Given the description of an element on the screen output the (x, y) to click on. 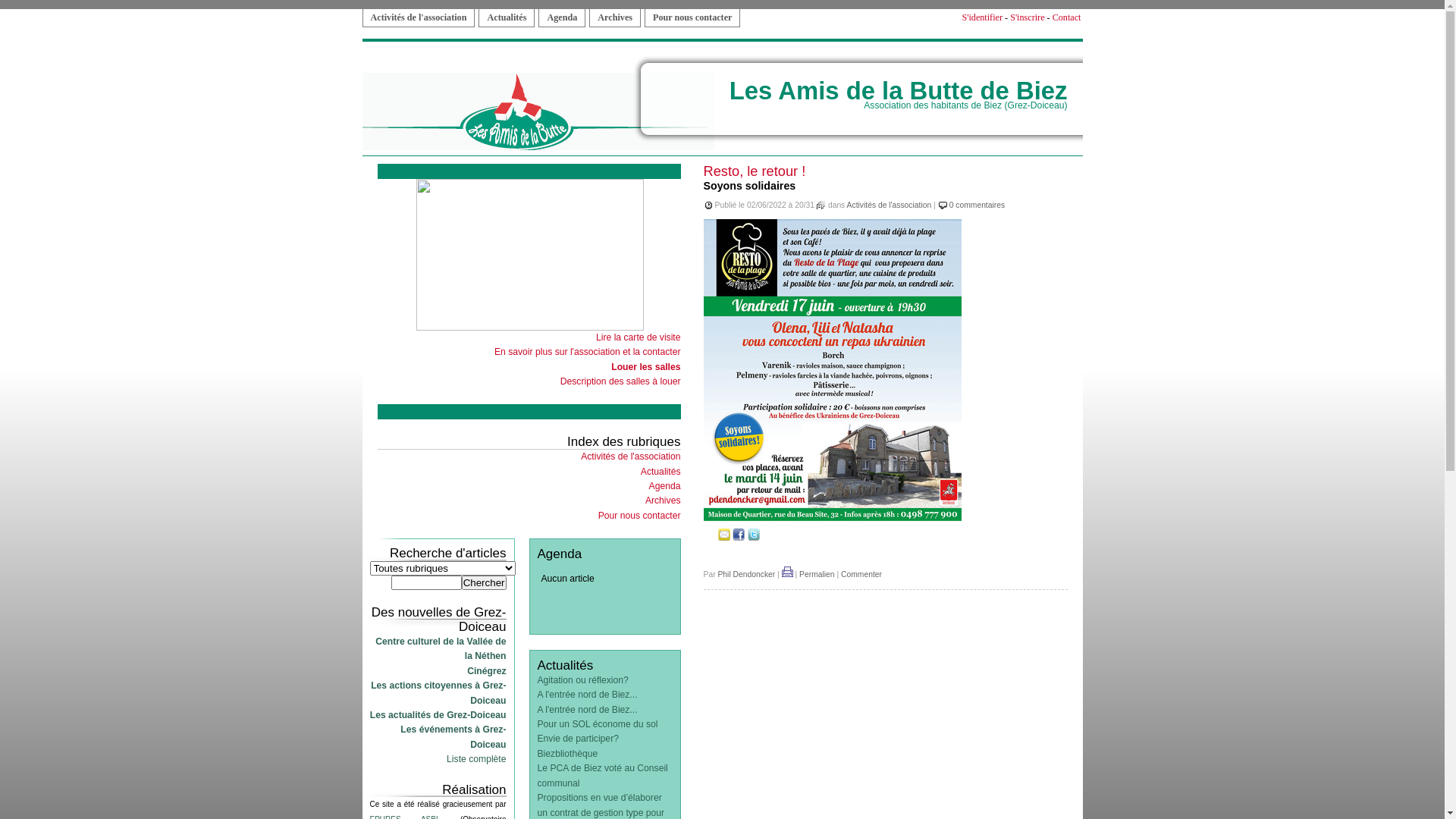
Phil Dendoncker Element type: text (746, 574)
Agenda Element type: text (664, 485)
Pour nous contacter Element type: text (639, 515)
Envie de participer? Element type: text (577, 738)
Pour nous contacter Element type: text (692, 18)
Commenter Element type: text (860, 574)
Ajouter aux favoris Element type: hover (709, 537)
0 commentaires Element type: text (976, 204)
Facebook Element type: hover (738, 537)
Permalien Element type: text (816, 574)
Archives Element type: text (614, 18)
Zoom Element type: hover (832, 518)
S'identifier Element type: text (981, 17)
Archives Element type: text (662, 500)
Resto, le retour ! Element type: text (754, 170)
Chercher Element type: text (483, 582)
Les Amis de la Butte de Biez Element type: text (898, 90)
Version imprimable Element type: hover (787, 574)
Contact Element type: text (1066, 17)
Louer les salles Element type: text (645, 366)
En savoir plus sur l'association et la contacter Element type: text (587, 351)
Lire la carte de visite Element type: text (638, 337)
S'inscrire Element type: text (1027, 17)
Agenda Element type: text (561, 18)
Twitter Element type: hover (753, 537)
